Given the description of an element on the screen output the (x, y) to click on. 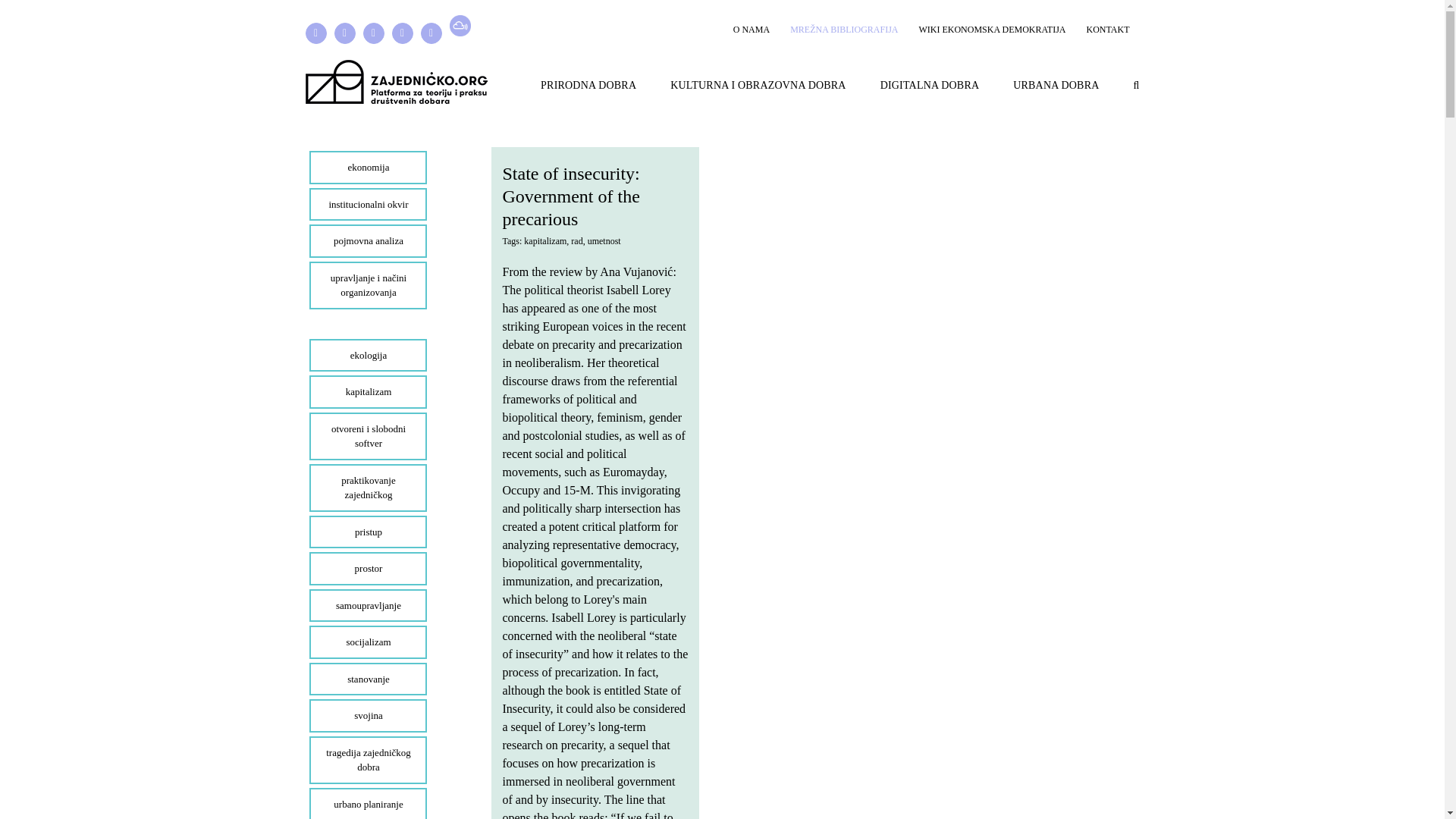
Instagram (373, 33)
YouTube (430, 33)
DIGITALNA DOBRA (929, 84)
State of insecurity: Government of the precarious (570, 196)
Twitter (344, 33)
Mixcloud (459, 25)
Facebook (315, 33)
Twitter (344, 33)
URBANA DOBRA (1056, 84)
Facebook (315, 33)
